Given the description of an element on the screen output the (x, y) to click on. 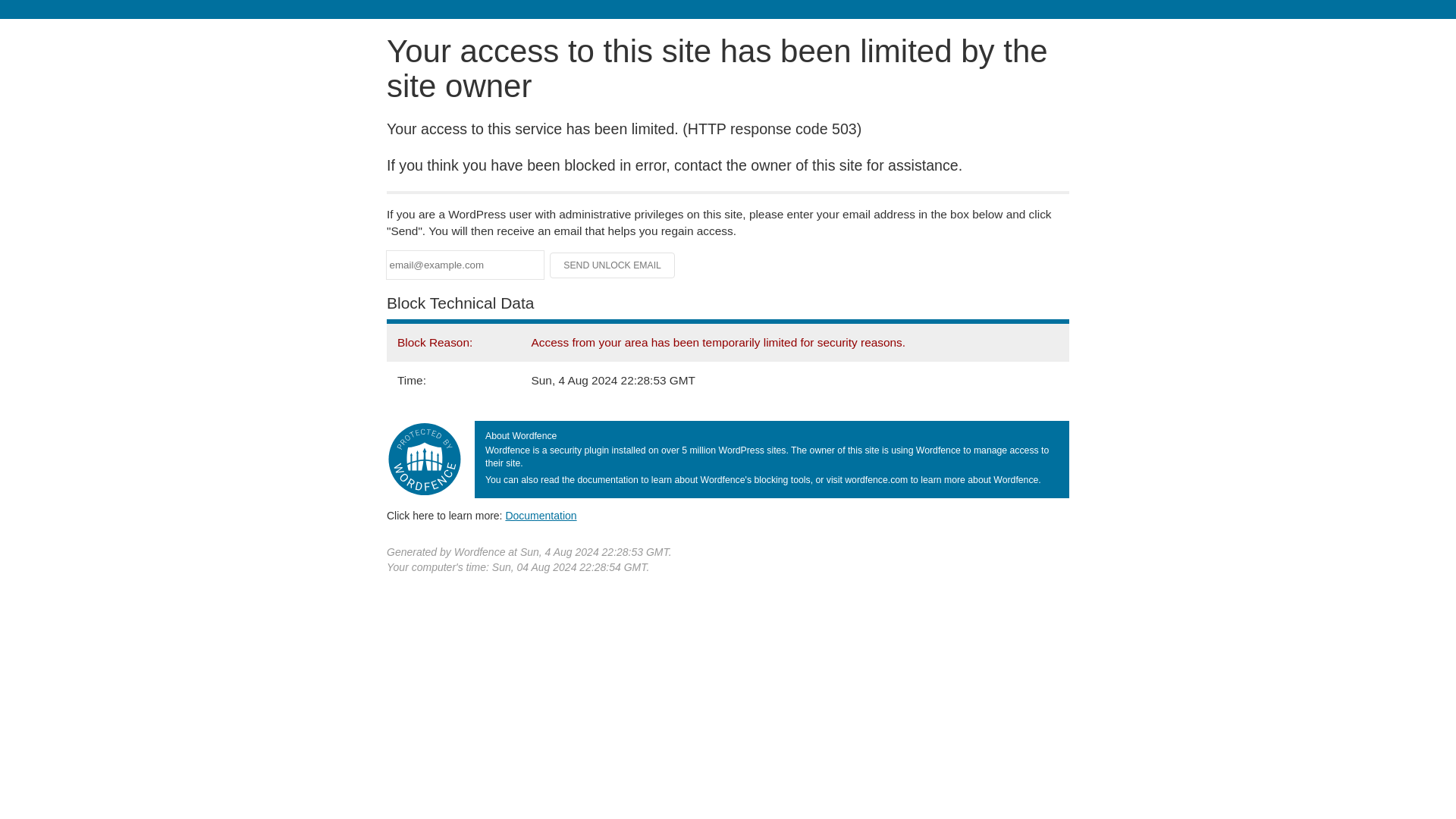
Documentation (540, 515)
Send Unlock Email (612, 265)
Send Unlock Email (612, 265)
